Given the description of an element on the screen output the (x, y) to click on. 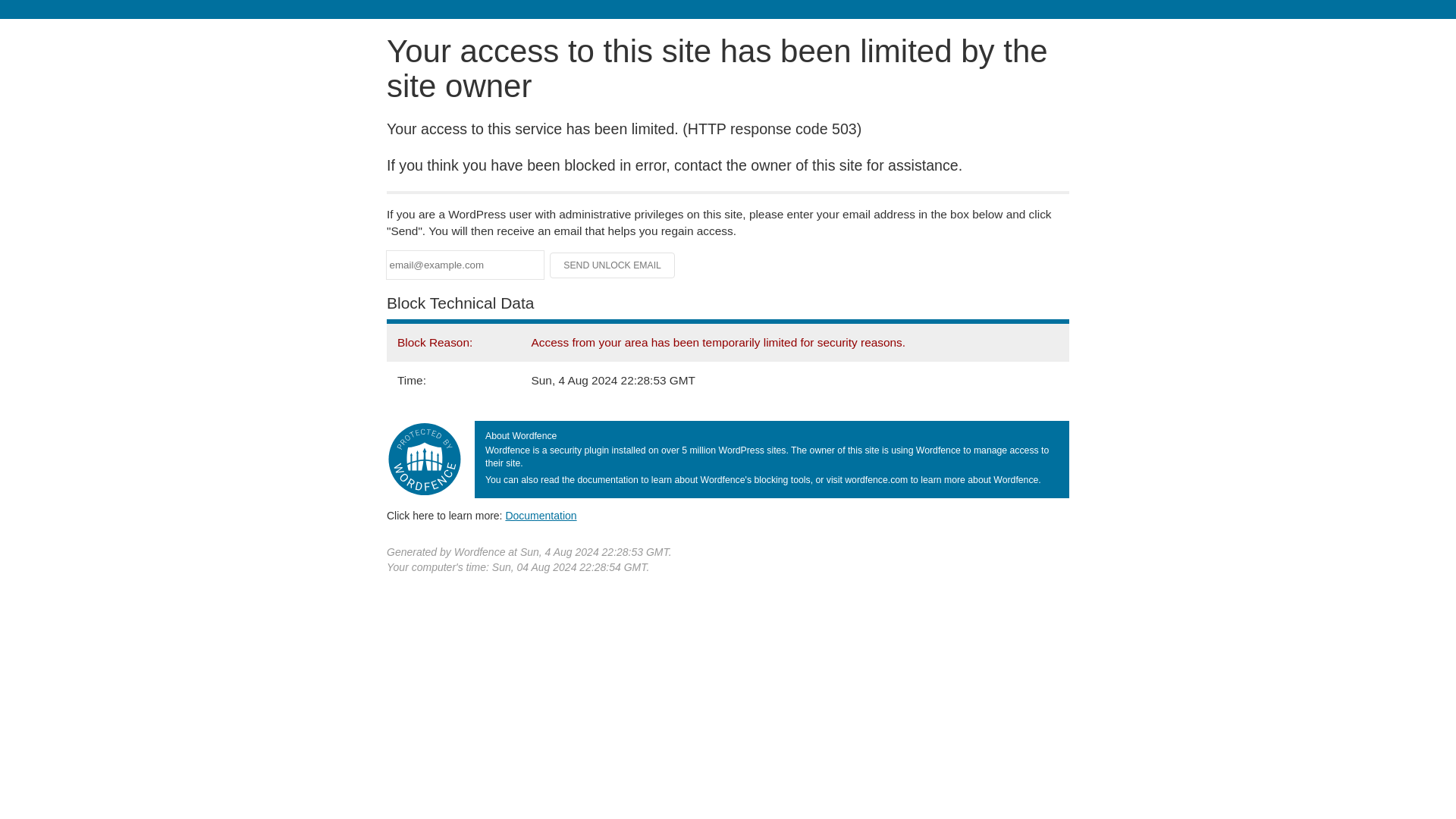
Documentation (540, 515)
Send Unlock Email (612, 265)
Send Unlock Email (612, 265)
